Given the description of an element on the screen output the (x, y) to click on. 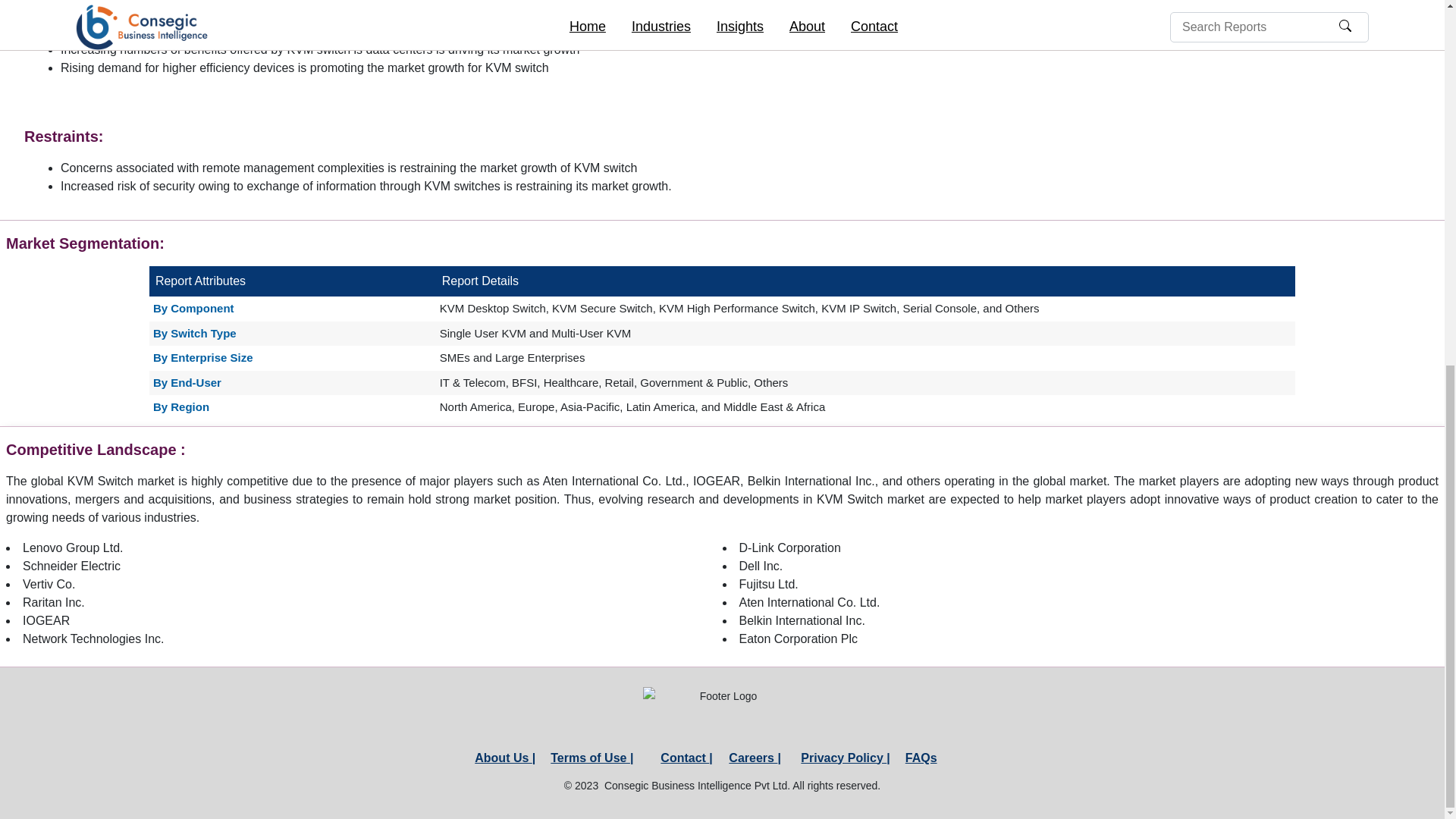
Logo (722, 713)
FAQs (921, 757)
